Given the description of an element on the screen output the (x, y) to click on. 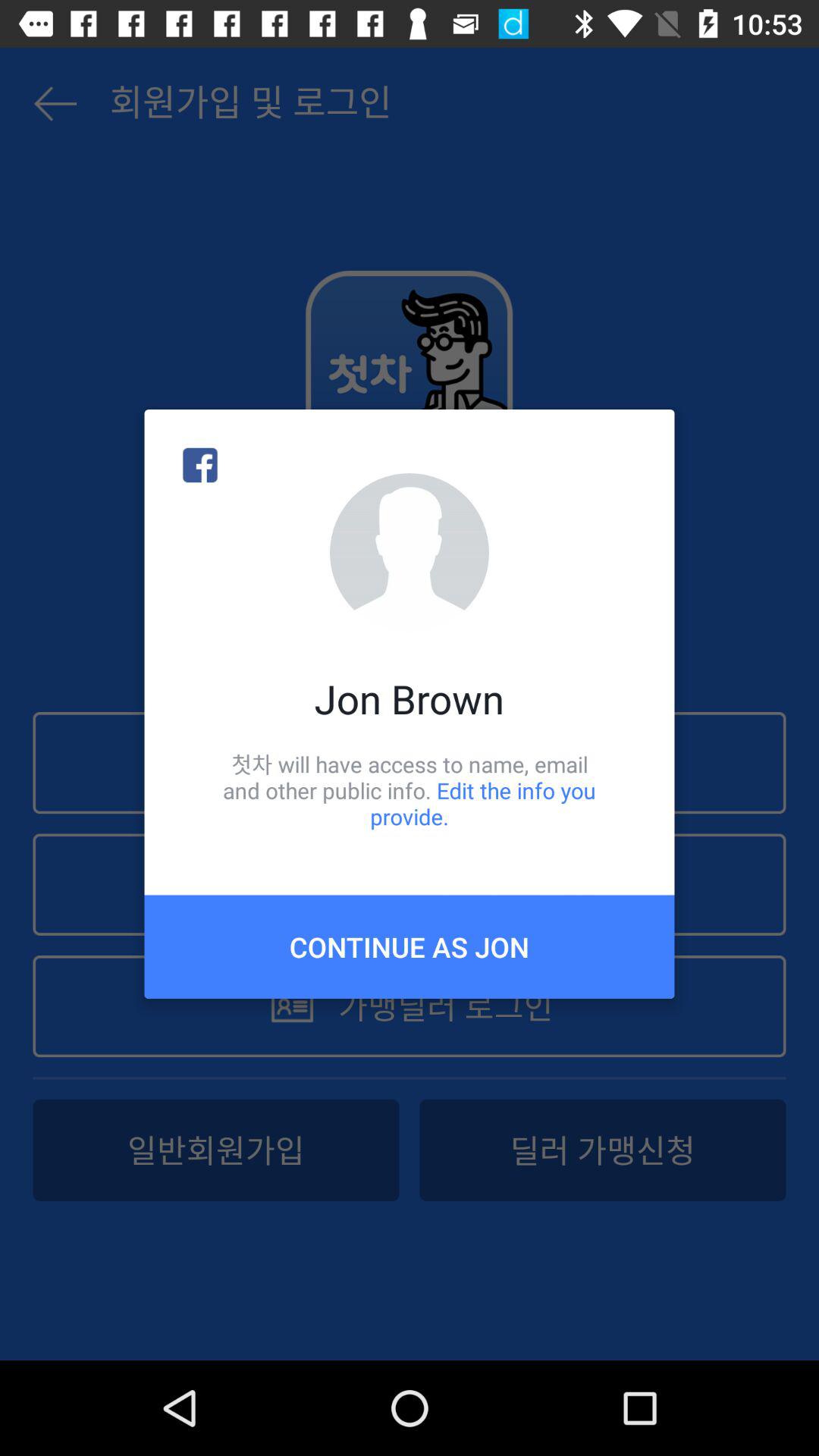
swipe to the continue as jon (409, 946)
